Given the description of an element on the screen output the (x, y) to click on. 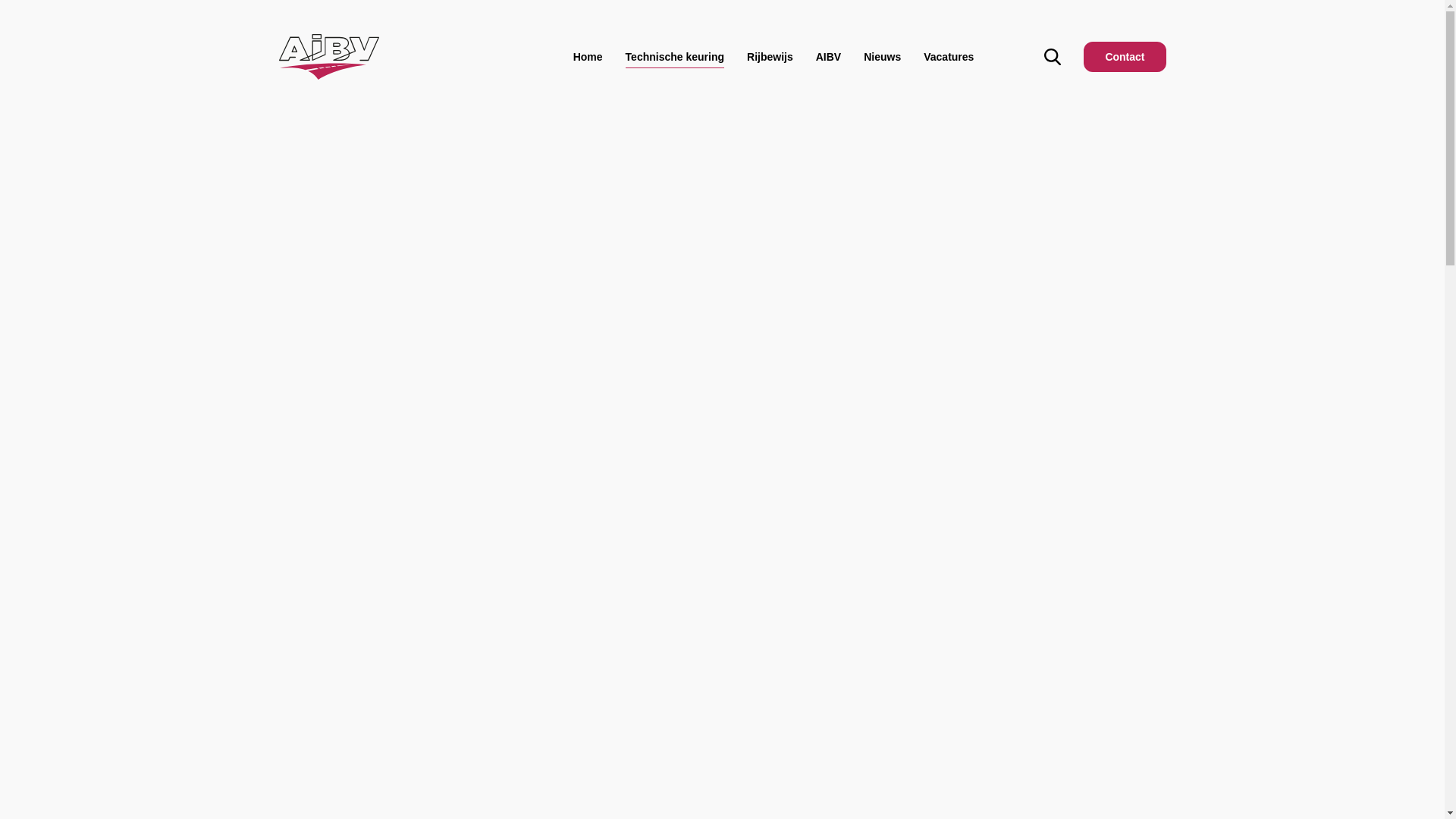
Home Element type: text (587, 56)
Contact Element type: text (1124, 56)
AIBV Element type: text (827, 56)
Nieuws Element type: text (881, 56)
Indienen Element type: text (1106, 230)
Zoeken Element type: text (721, 484)
Vacatures Element type: text (948, 56)
